Given the description of an element on the screen output the (x, y) to click on. 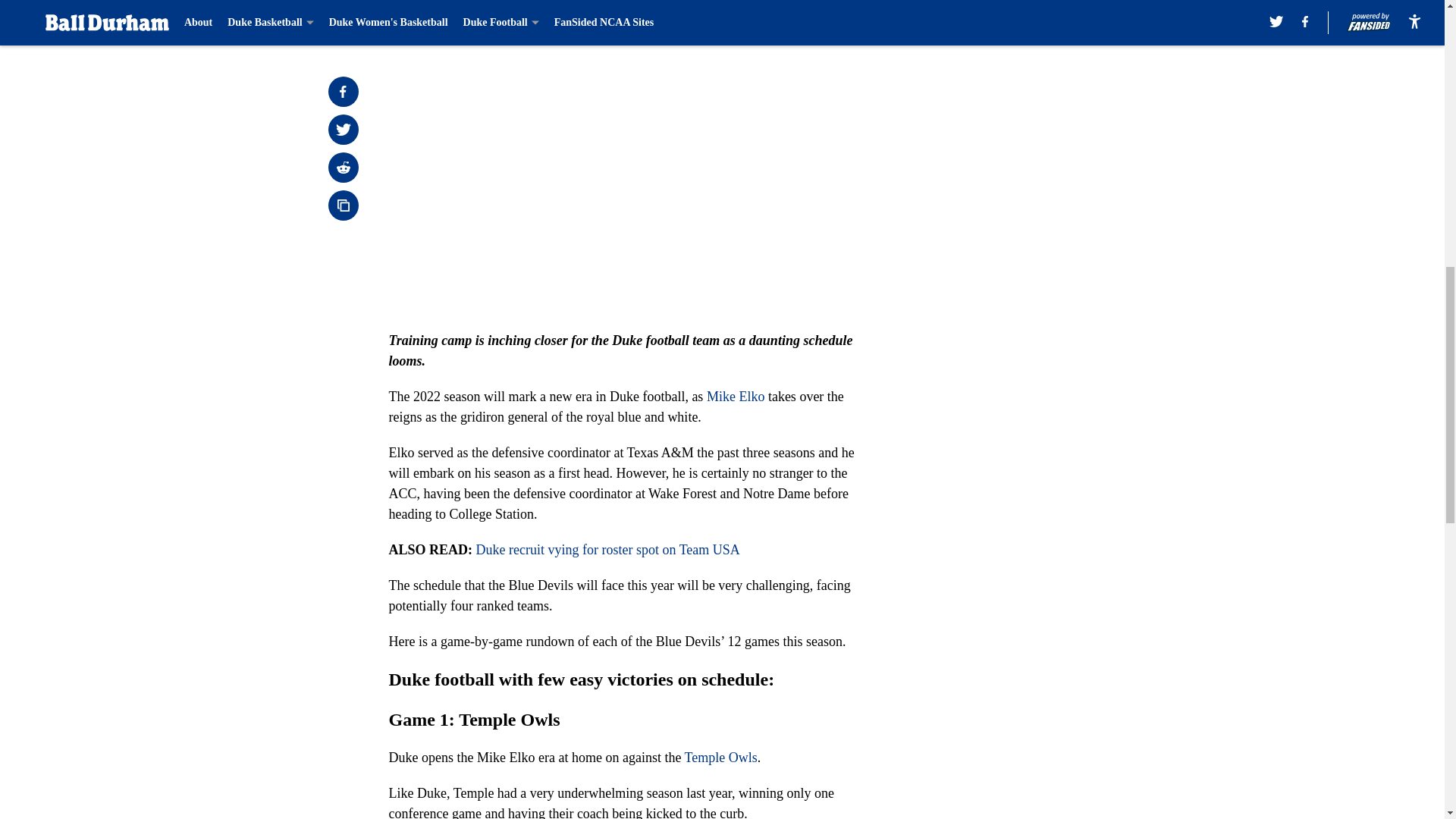
Prev (433, 20)
Duke recruit vying for roster spot on Team USA (607, 549)
Temple Owls (720, 757)
Mike Elko (735, 396)
Next (813, 20)
